Given the description of an element on the screen output the (x, y) to click on. 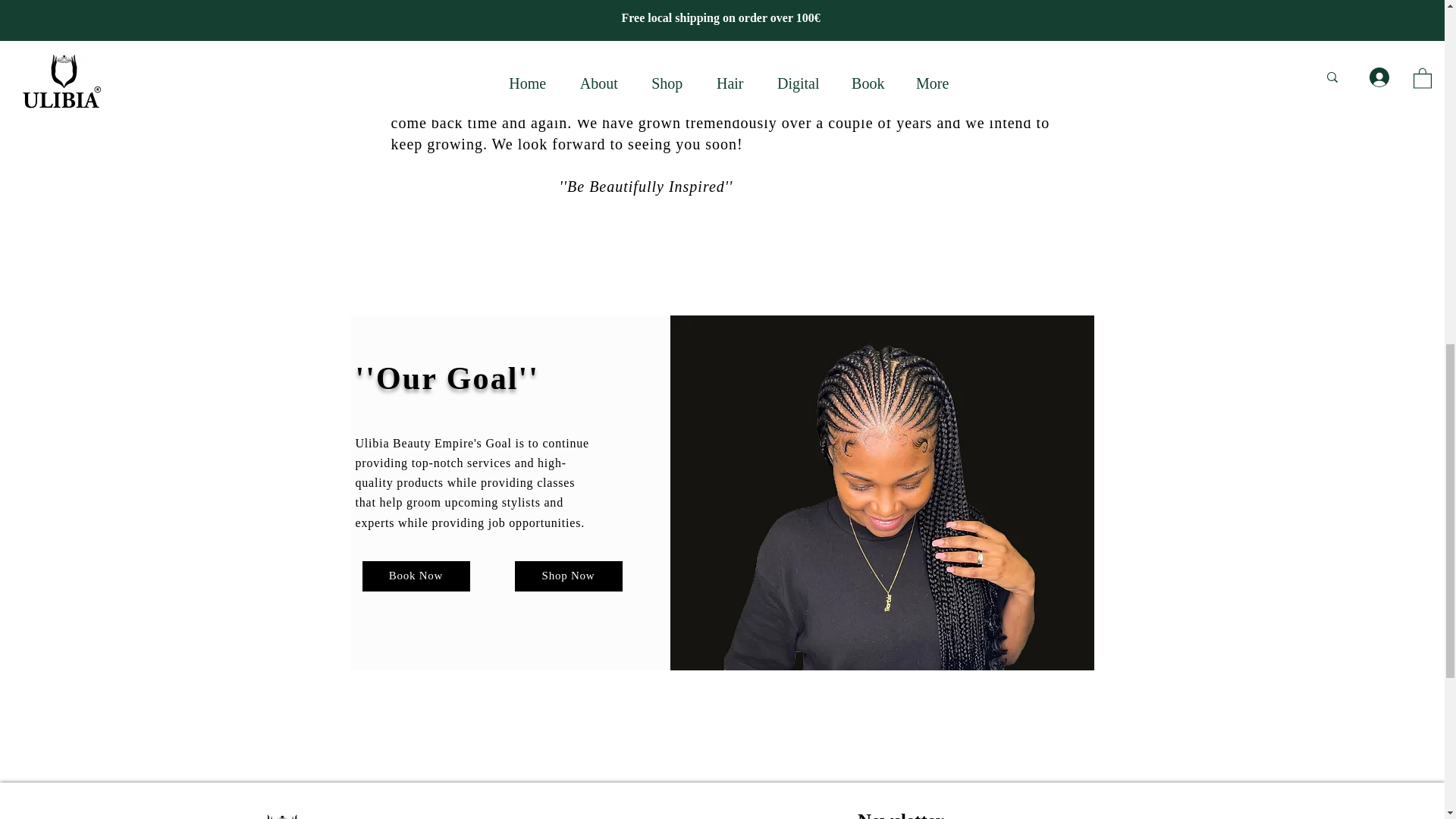
Book Now (416, 576)
Shop Now (567, 576)
